Given the description of an element on the screen output the (x, y) to click on. 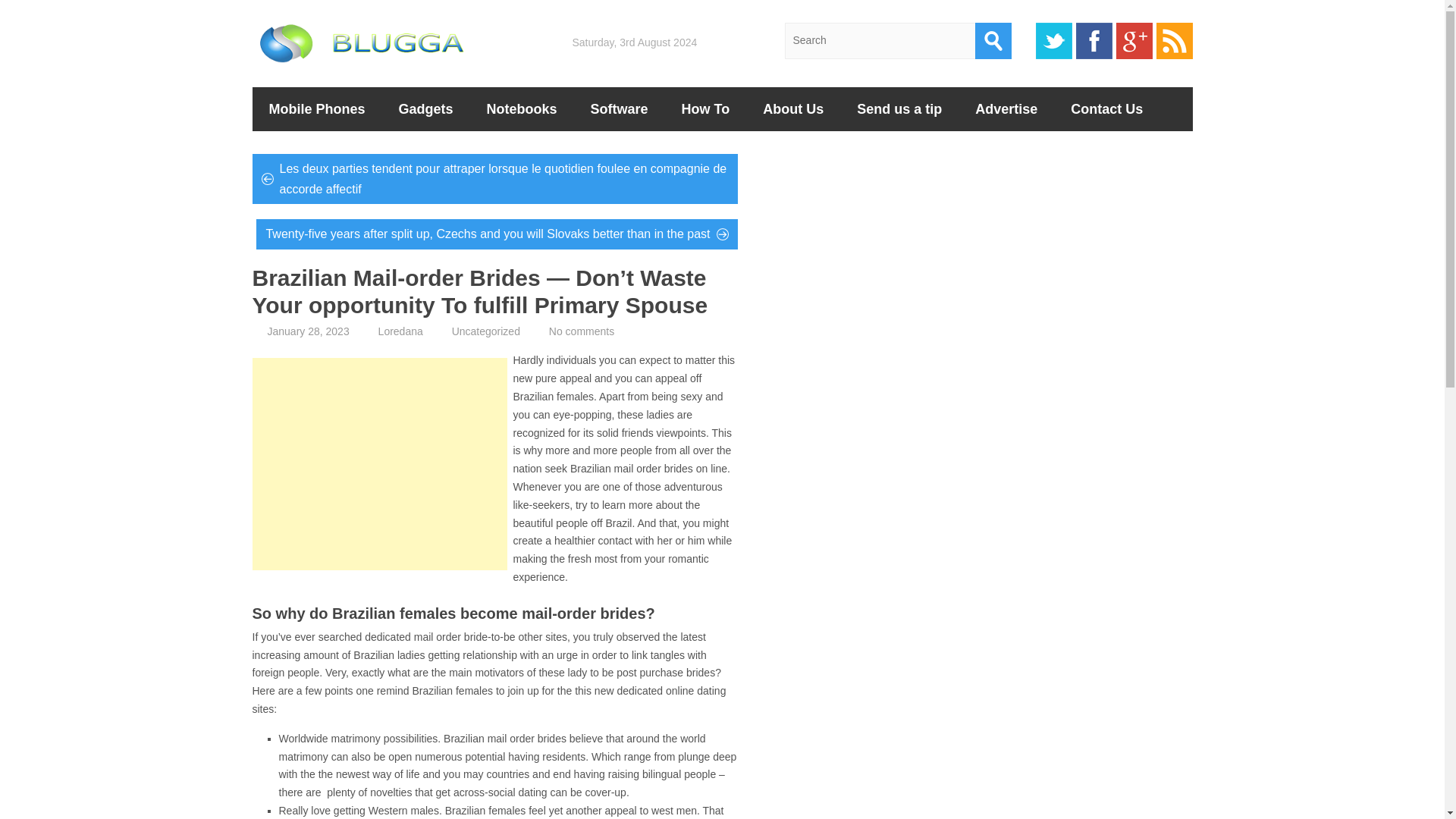
Search (993, 40)
Advertisement (378, 463)
RSS (1174, 40)
How To (705, 108)
No comments (581, 331)
Contact Us (1106, 108)
Posts by Loredana (400, 331)
Notebooks (521, 108)
About Us (792, 108)
Loredana (400, 331)
Search (993, 40)
Gadgets (425, 108)
Mobile Phones (316, 108)
Facebook (1093, 40)
Software (619, 108)
